Given the description of an element on the screen output the (x, y) to click on. 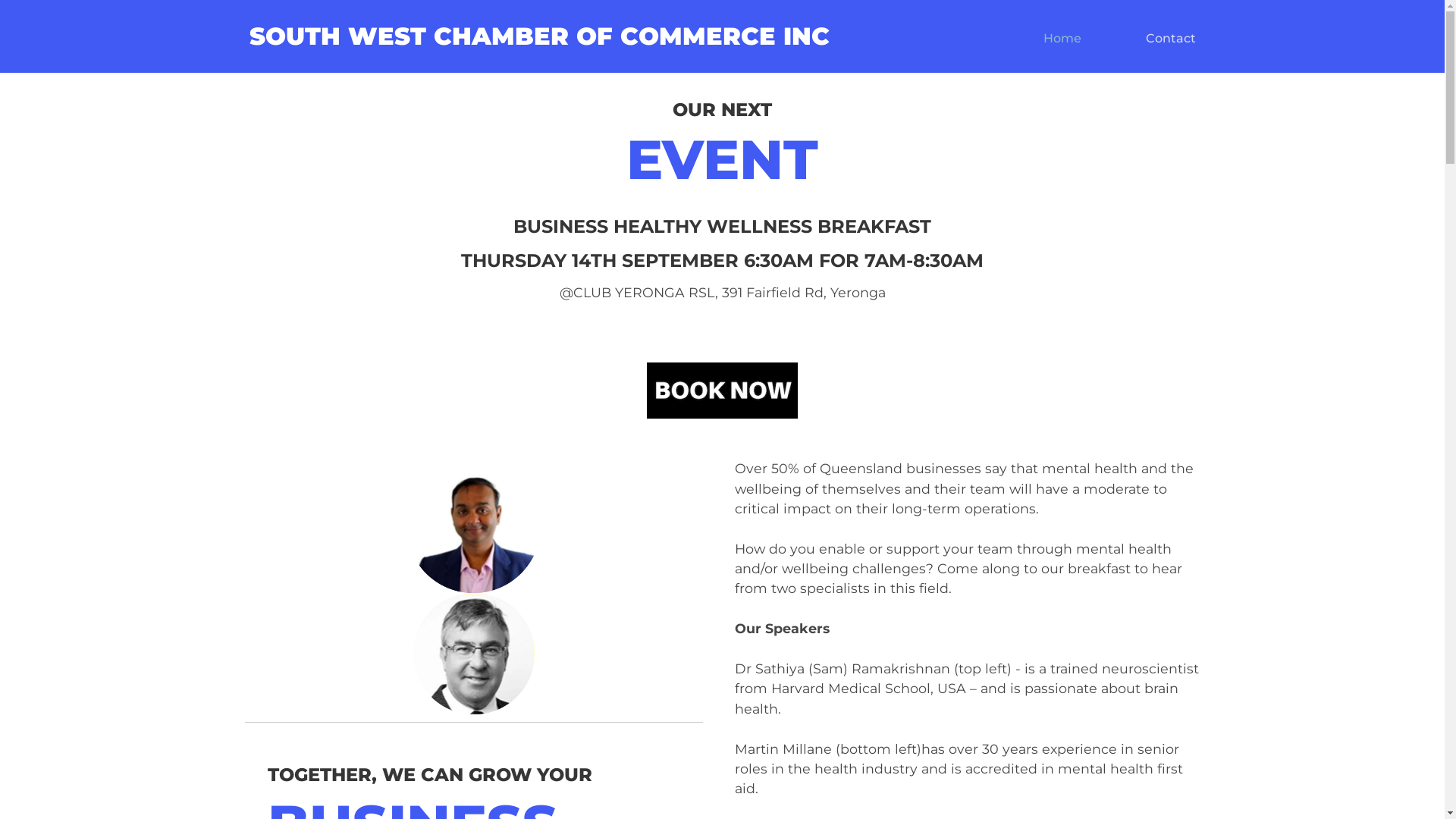
Contact Element type: text (1170, 38)
Home Element type: text (1062, 38)
SOUTH WEST CHAMBER OF COMMERCE INC Element type: text (538, 35)
